Given the description of an element on the screen output the (x, y) to click on. 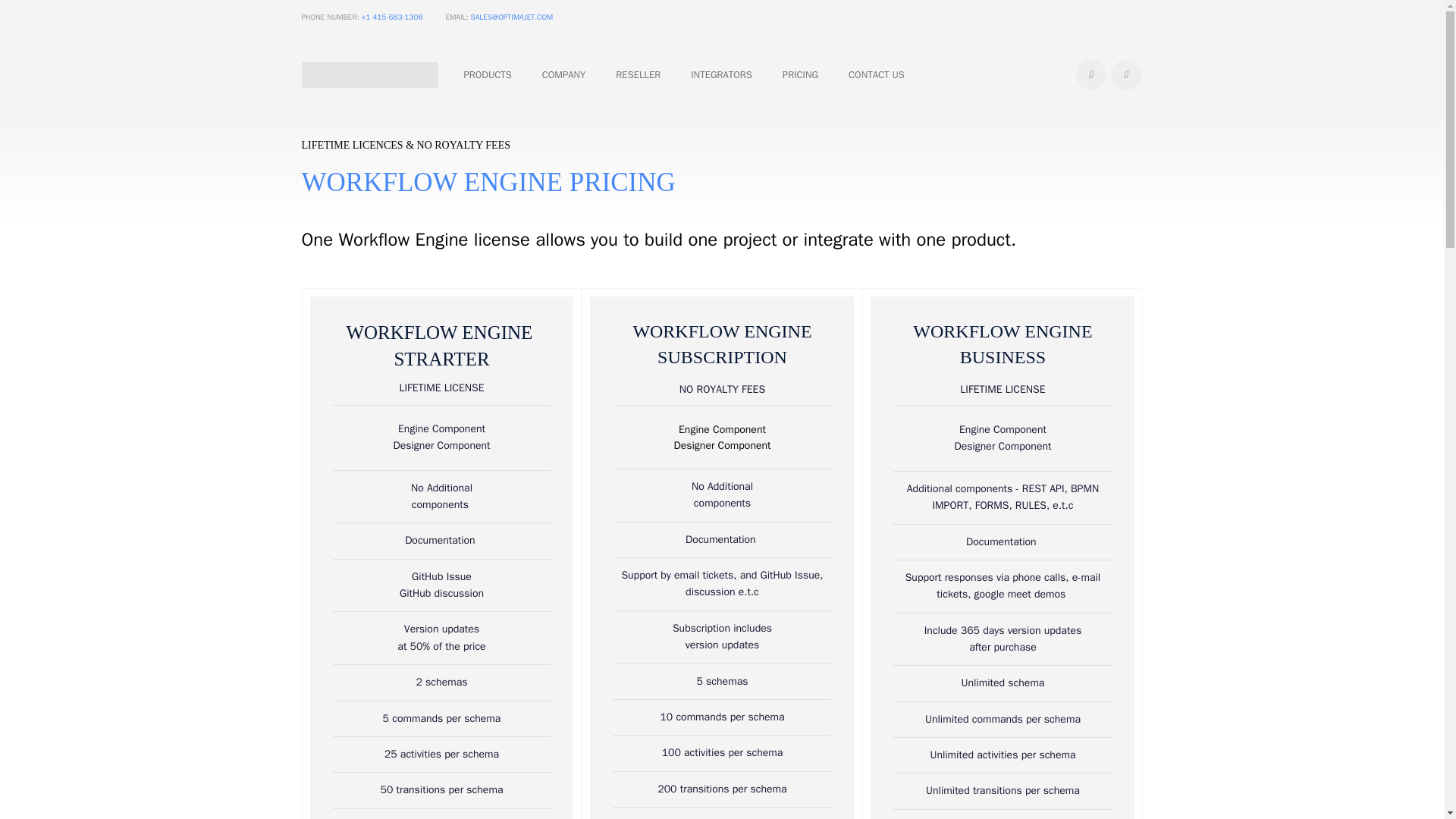
RESELLER (638, 75)
COMPANY (563, 75)
PRICING (800, 75)
PRODUCTS (684, 75)
INTEGRATORS (487, 75)
CONTACT US (721, 75)
